Given the description of an element on the screen output the (x, y) to click on. 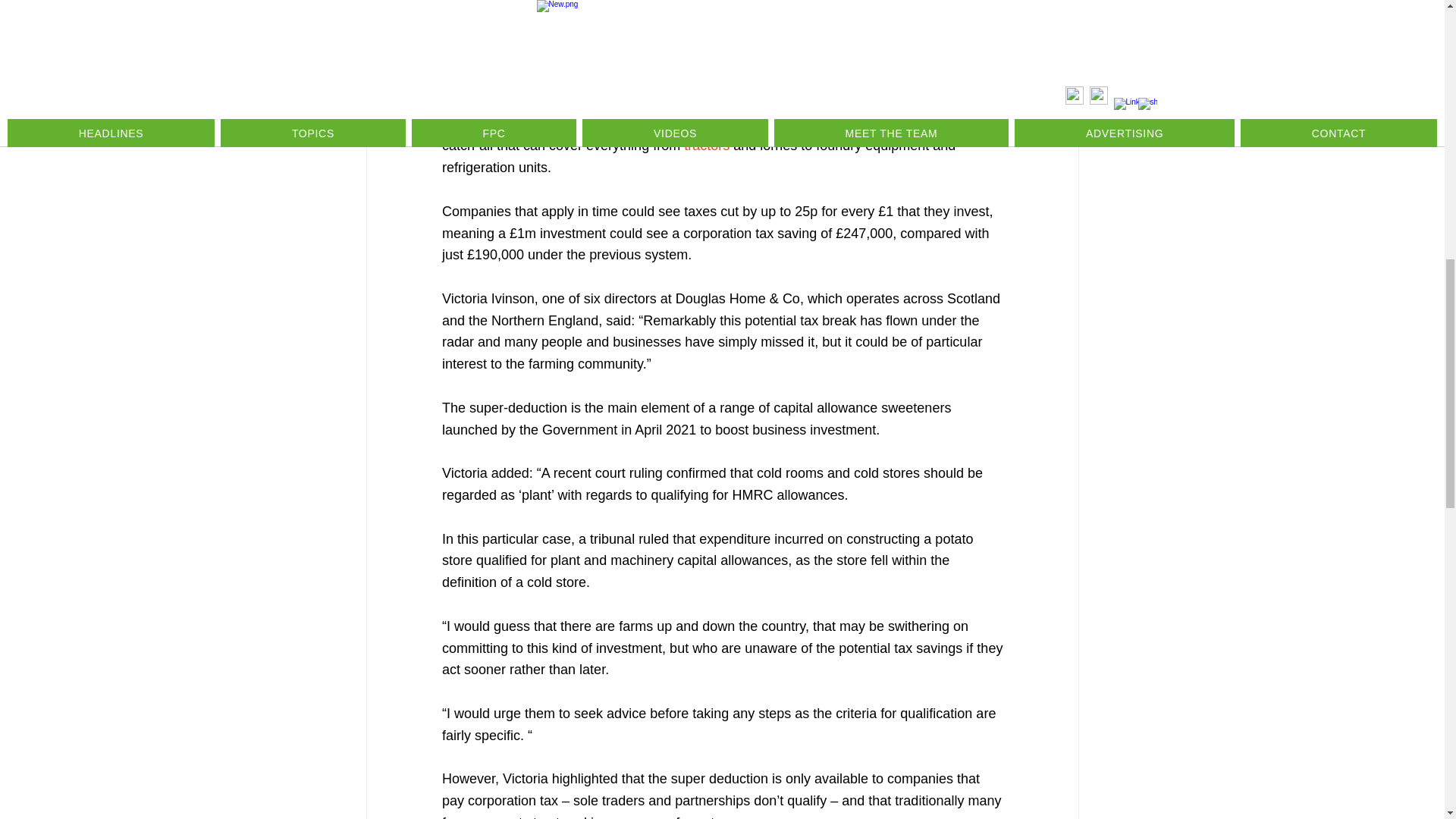
tractors  (708, 145)
investments  (479, 58)
